Given the description of an element on the screen output the (x, y) to click on. 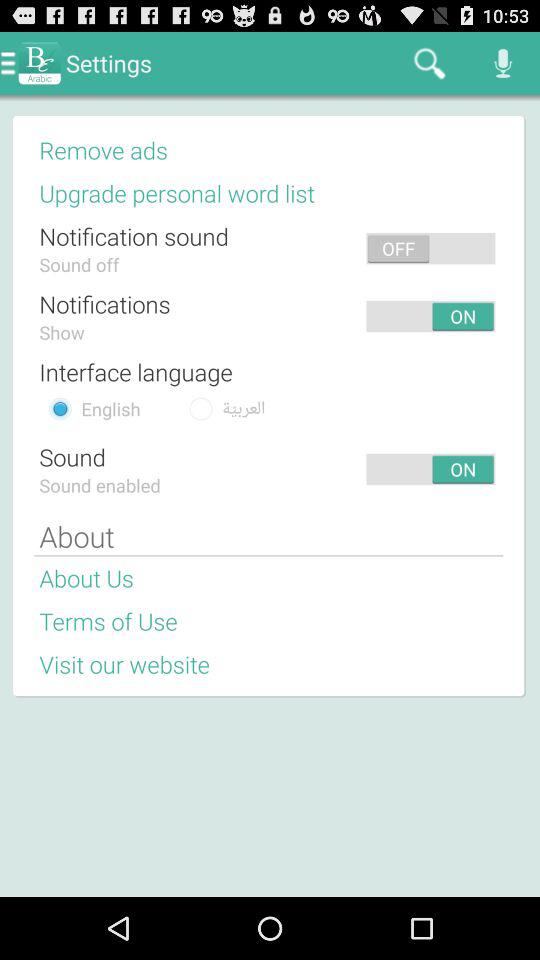
select the app next to the remove ads item (338, 149)
